Given the description of an element on the screen output the (x, y) to click on. 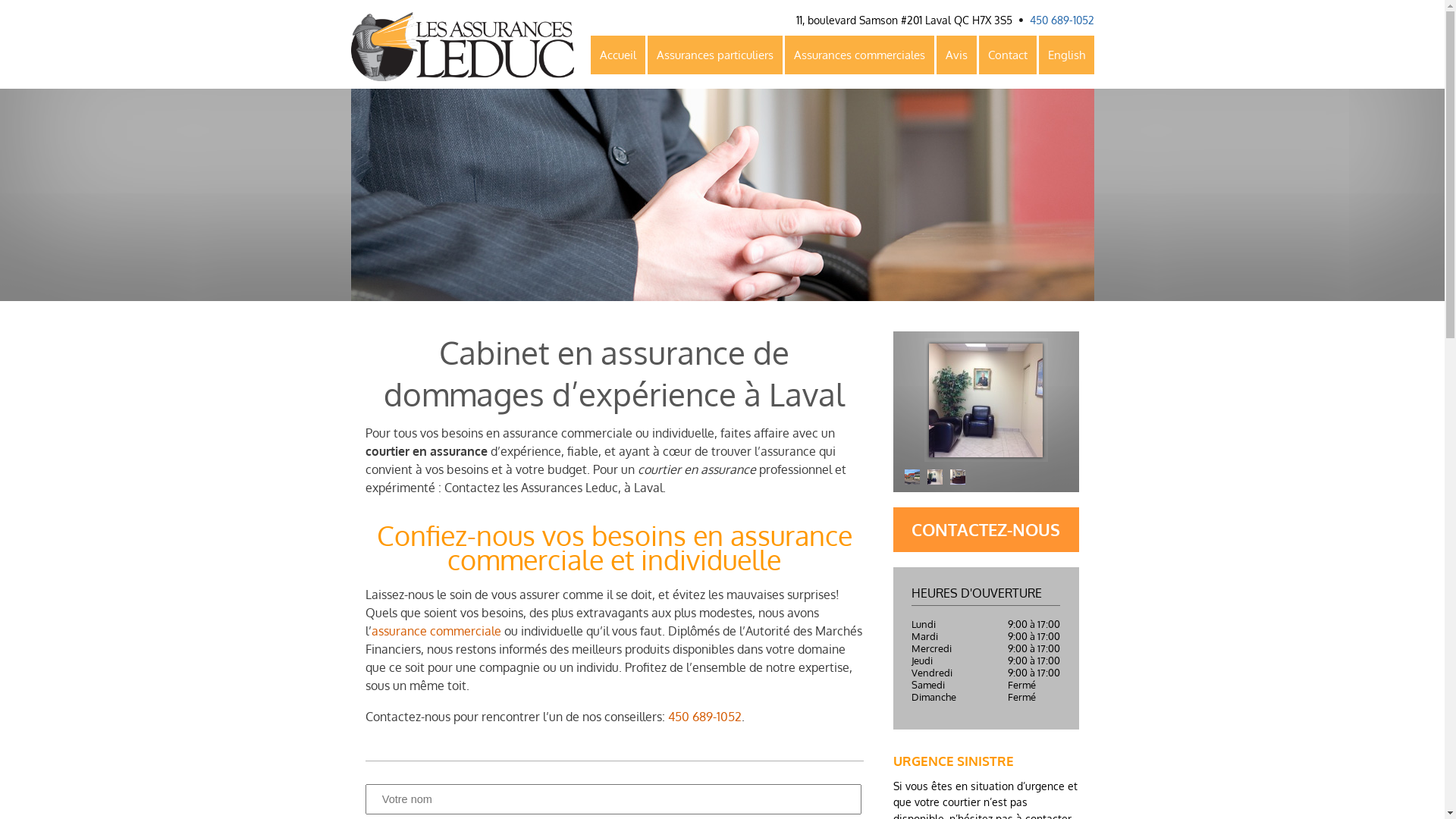
Contact Element type: text (1006, 54)
Assurances particuliers Element type: text (714, 54)
Avis Element type: text (955, 54)
assurance commerciale Element type: text (436, 630)
Assurances commerciales Element type: text (858, 54)
Accueil Element type: text (616, 54)
English Element type: text (1066, 54)
450 689-1052 Element type: text (1061, 19)
CONTACTEZ-NOUS Element type: text (985, 529)
450 689-1052 Element type: text (704, 716)
